Given the description of an element on the screen output the (x, y) to click on. 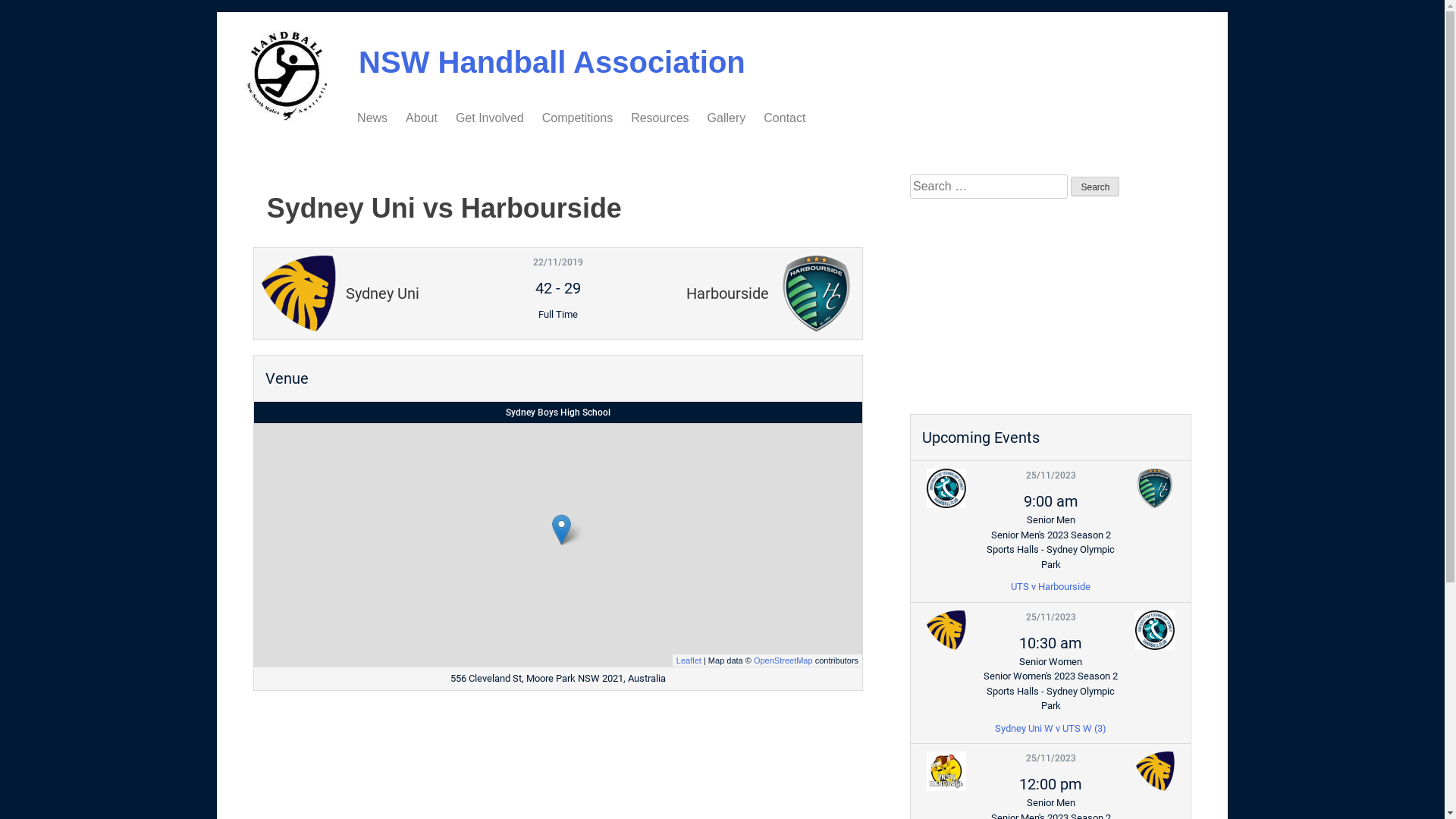
25/11/2023 Element type: text (1051, 758)
UTS (w) Element type: hover (1154, 629)
About Element type: text (421, 118)
Get Involved Element type: text (489, 118)
UTS v Harbourside Element type: text (1050, 586)
9:00 am Element type: text (1050, 501)
Competitions Element type: text (577, 118)
News Element type: text (372, 118)
10:30 am Element type: text (1050, 642)
UNSW Element type: hover (946, 770)
Sydney Uni Element type: hover (1154, 770)
Harbourside Element type: hover (1154, 488)
Sydney Uni W v UTS W (3) Element type: text (1050, 727)
Sydney Boys High School Element type: text (557, 412)
Sydney Uni (w) Element type: hover (946, 629)
Leaflet Element type: text (688, 659)
OpenStreetMap Element type: text (782, 659)
NSW Handball Association Element type: text (551, 61)
12:00 pm Element type: text (1050, 784)
25/11/2023 Element type: text (1051, 616)
Search Element type: text (1094, 186)
Contact Element type: text (784, 118)
Resources Element type: text (659, 118)
UTS Element type: hover (946, 488)
Gallery Element type: text (726, 118)
25/11/2023 Element type: text (1051, 475)
